Given the description of an element on the screen output the (x, y) to click on. 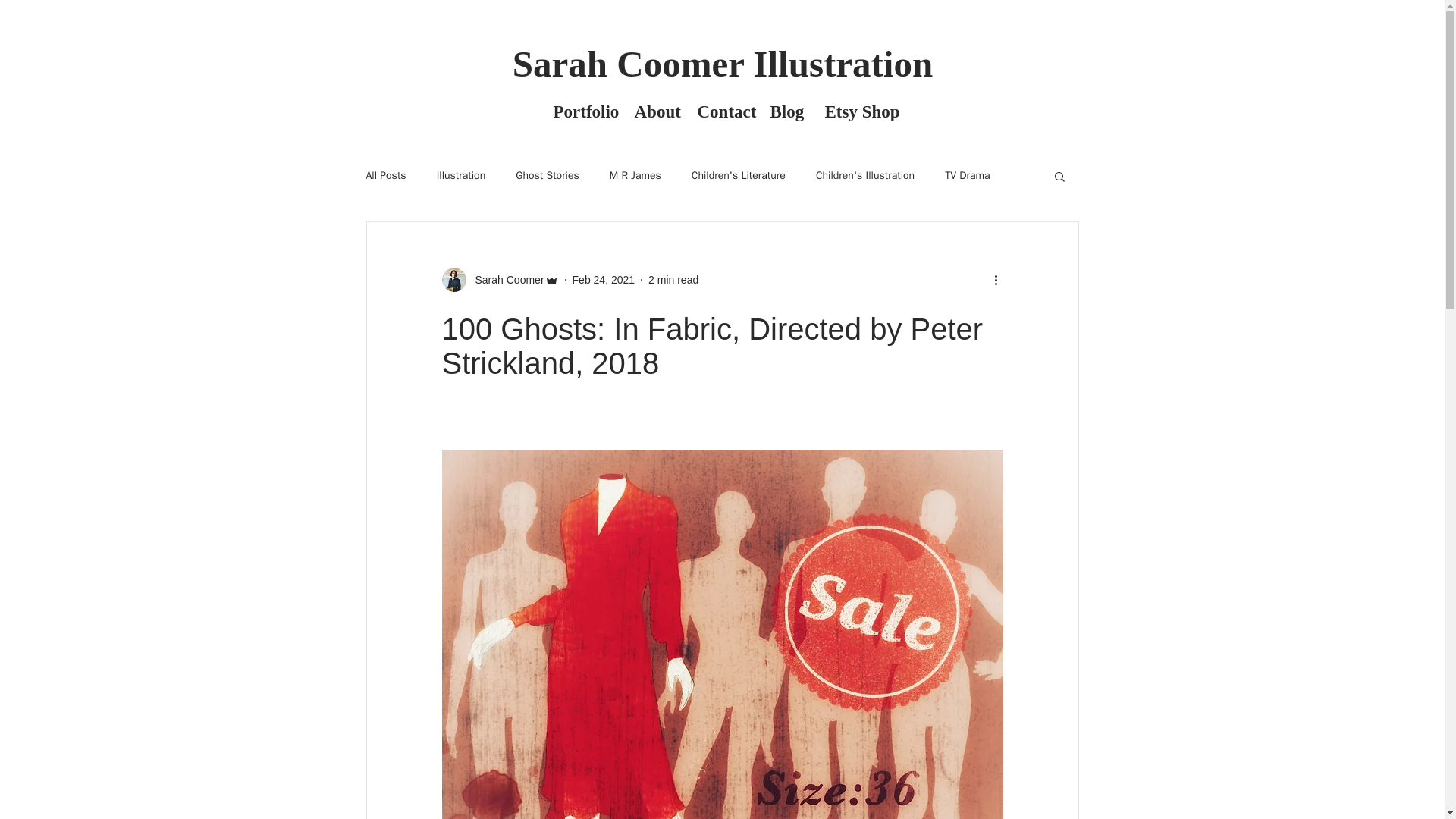
Etsy Shop (857, 111)
M R James (635, 175)
All Posts (385, 175)
Sarah Coomer (499, 279)
Sarah Coomer (504, 279)
Children's Literature (738, 175)
Feb 24, 2021 (603, 278)
About (654, 111)
TV Drama (967, 175)
2 min read (672, 278)
